Given the description of an element on the screen output the (x, y) to click on. 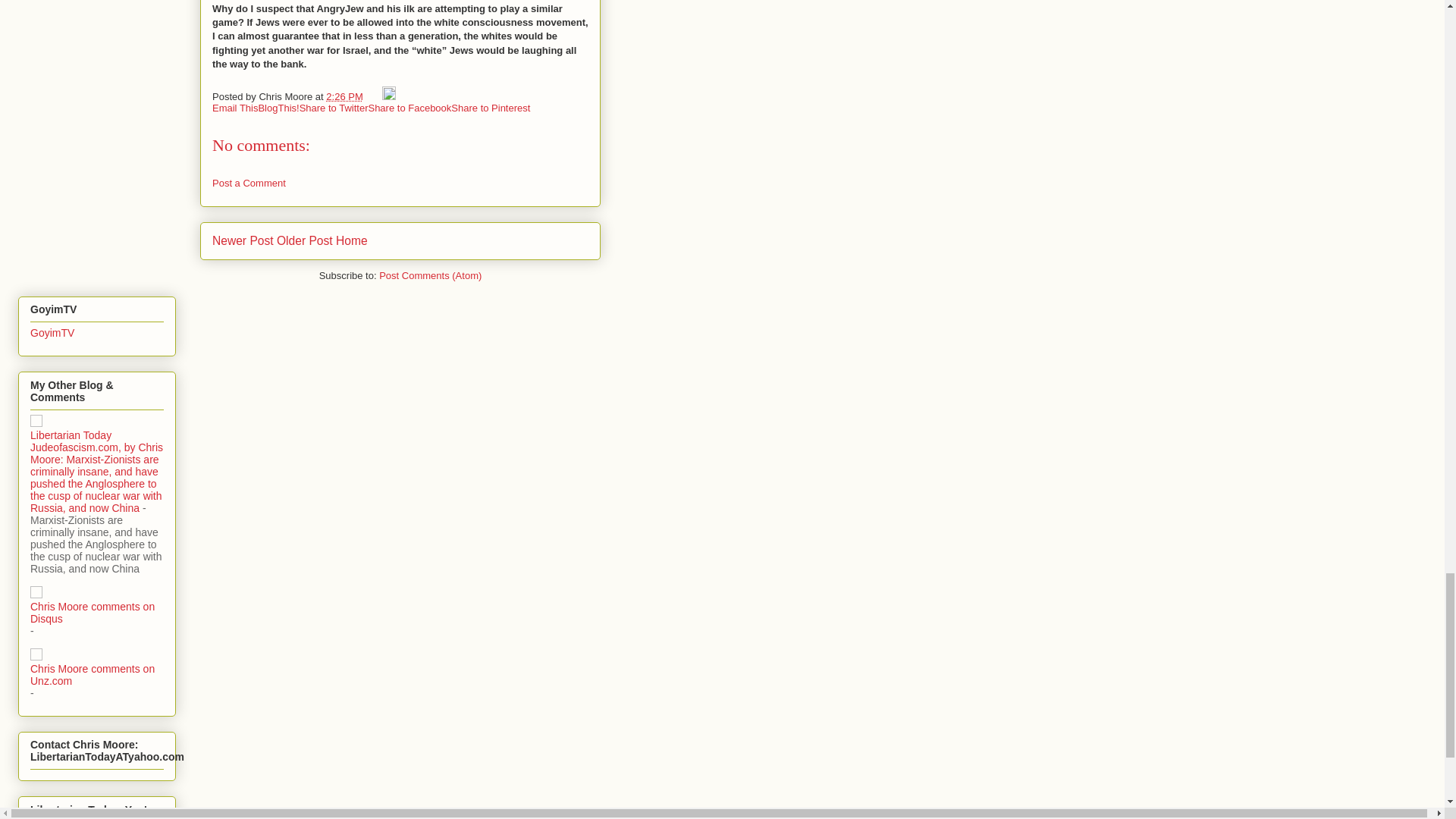
BlogThis! (277, 107)
Share to Twitter (333, 107)
Older Post (304, 240)
Older Post (304, 240)
Email This (234, 107)
Share to Pinterest (490, 107)
GoyimTV (52, 332)
Edit Post (388, 96)
Chris Moore comments on Unz.com (92, 674)
Email This (234, 107)
Share to Pinterest (490, 107)
Share to Twitter (333, 107)
Newer Post (242, 240)
Home (352, 240)
Newer Post (242, 240)
